Given the description of an element on the screen output the (x, y) to click on. 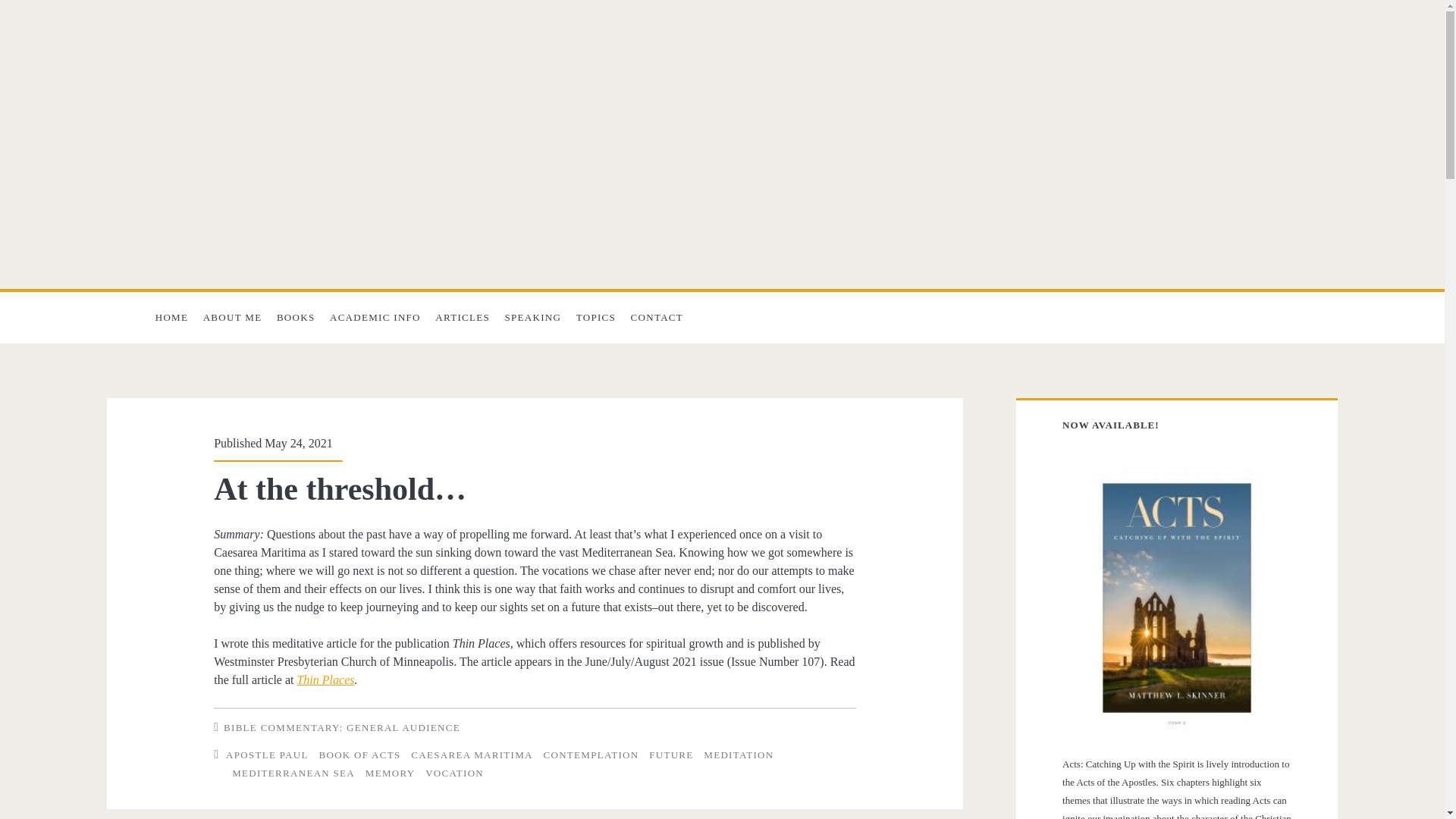
TOPICS (596, 317)
CONTEMPLATION (591, 754)
View all posts tagged meditation (738, 754)
APOSTLE PAUL (266, 754)
View all posts tagged book of acts (359, 754)
MEDITERRANEAN SEA (293, 772)
ARTICLES (462, 317)
MEMORY (389, 772)
View all posts tagged vocation (454, 772)
View all posts tagged Caesarea Maritima (471, 754)
FUTURE (671, 754)
BIBLE COMMENTARY: GENERAL AUDIENCE (342, 727)
BOOKS (295, 317)
CONTACT (656, 317)
View all posts tagged apostle paul (266, 754)
